Given the description of an element on the screen output the (x, y) to click on. 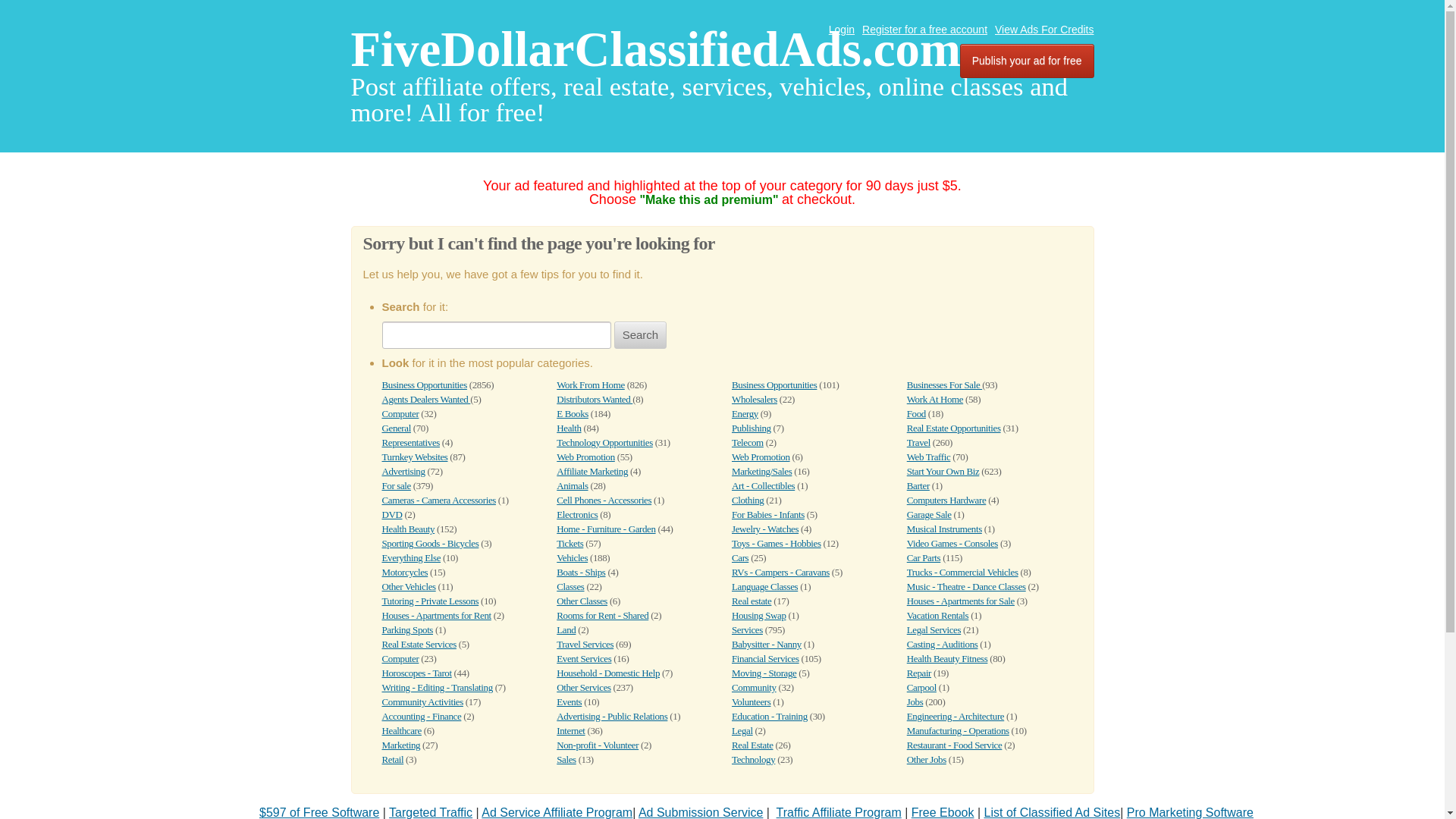
Animals (572, 485)
Register for a free account (924, 29)
Art - Collectibles (763, 485)
Food (916, 413)
Travel (918, 441)
Wholesalers (754, 398)
Agents Dealers Wanted (425, 398)
E Books (572, 413)
Advertising (403, 471)
Business Opportunities (424, 384)
Representatives (410, 441)
Turnkey Websites (414, 456)
Distributors Wanted (593, 398)
Work From Home (590, 384)
Web Promotion (585, 456)
